Given the description of an element on the screen output the (x, y) to click on. 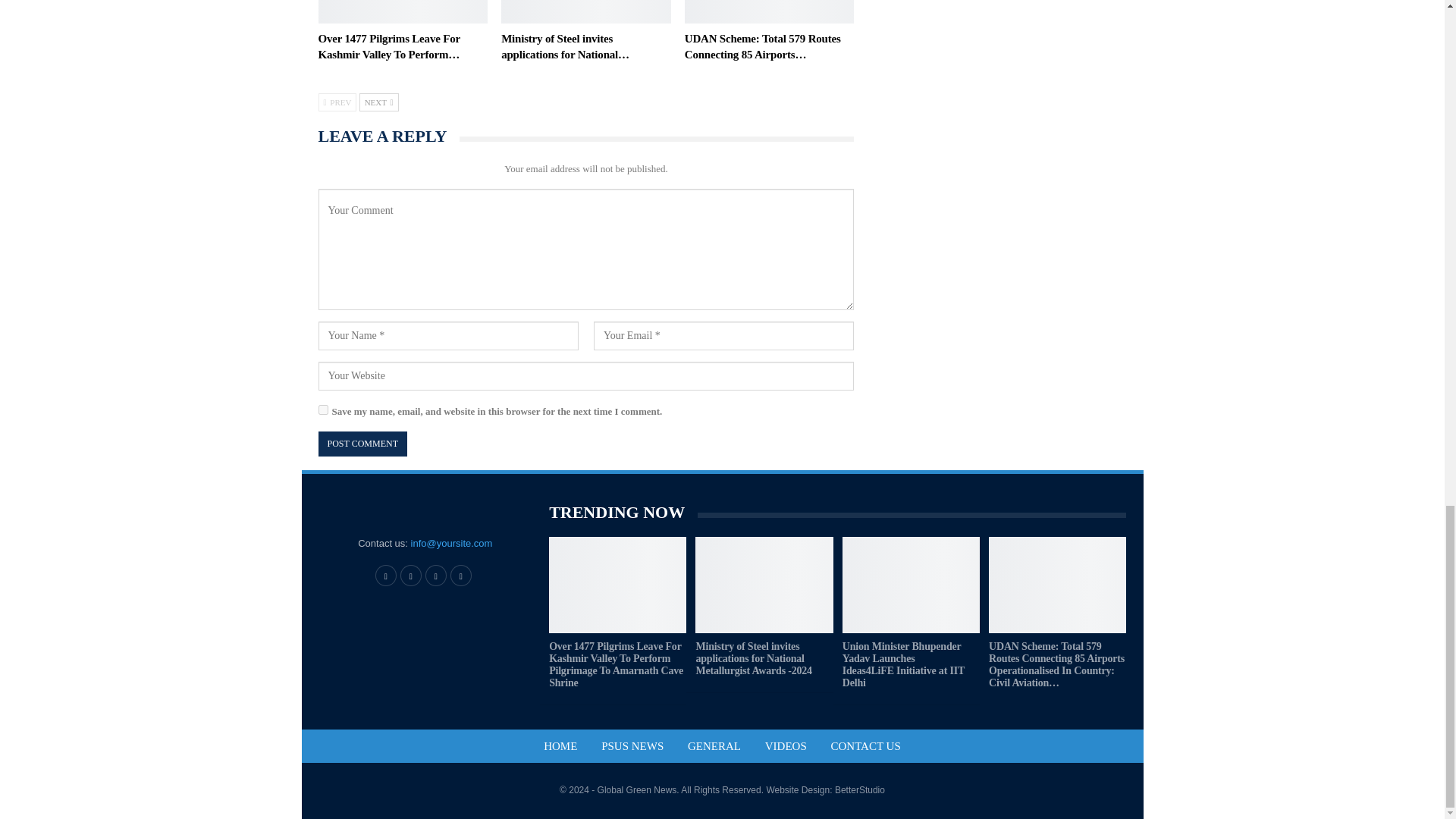
yes (323, 409)
Post Comment (362, 443)
